Given the description of an element on the screen output the (x, y) to click on. 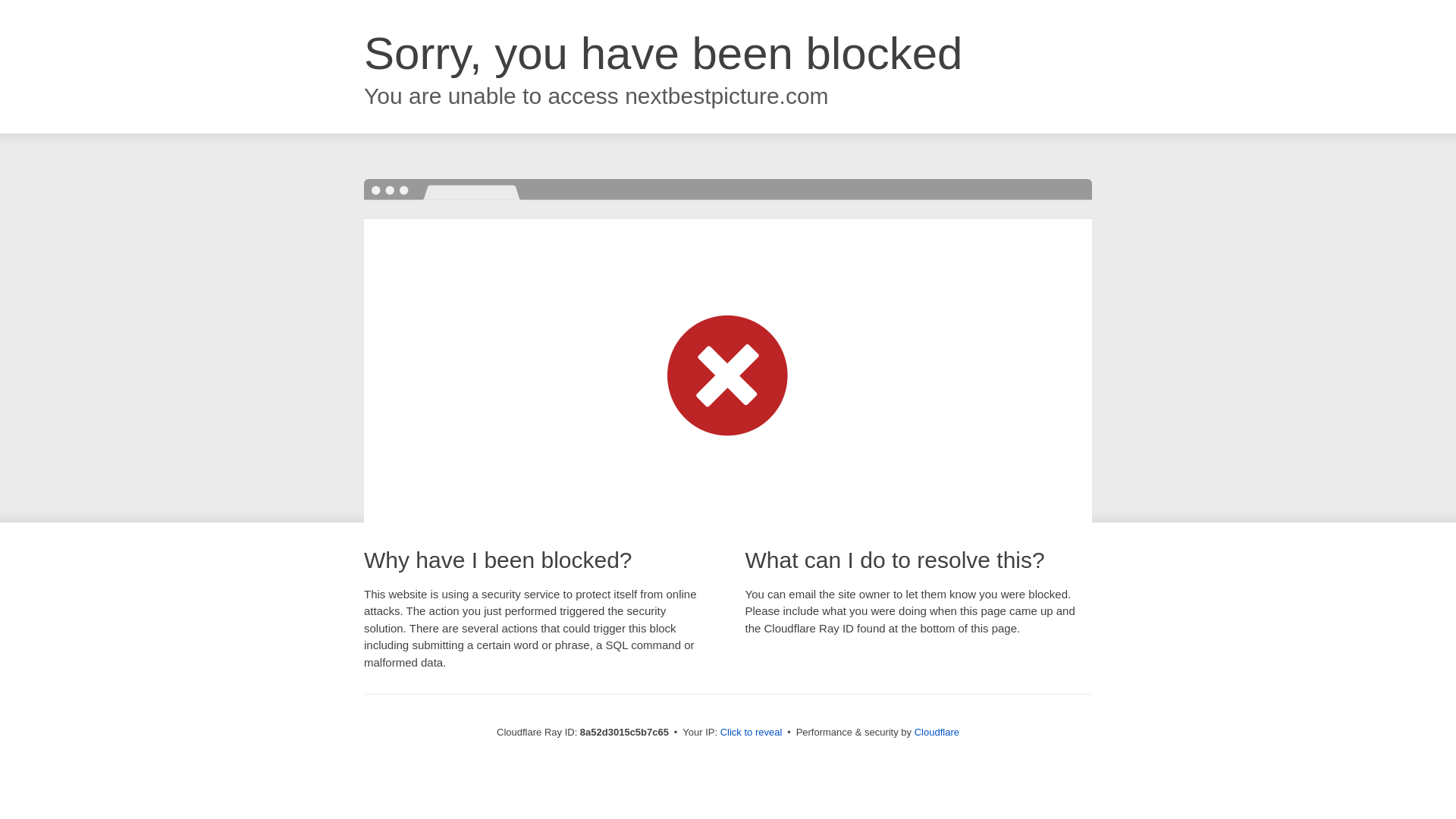
Cloudflare (936, 731)
Click to reveal (751, 732)
